Given the description of an element on the screen output the (x, y) to click on. 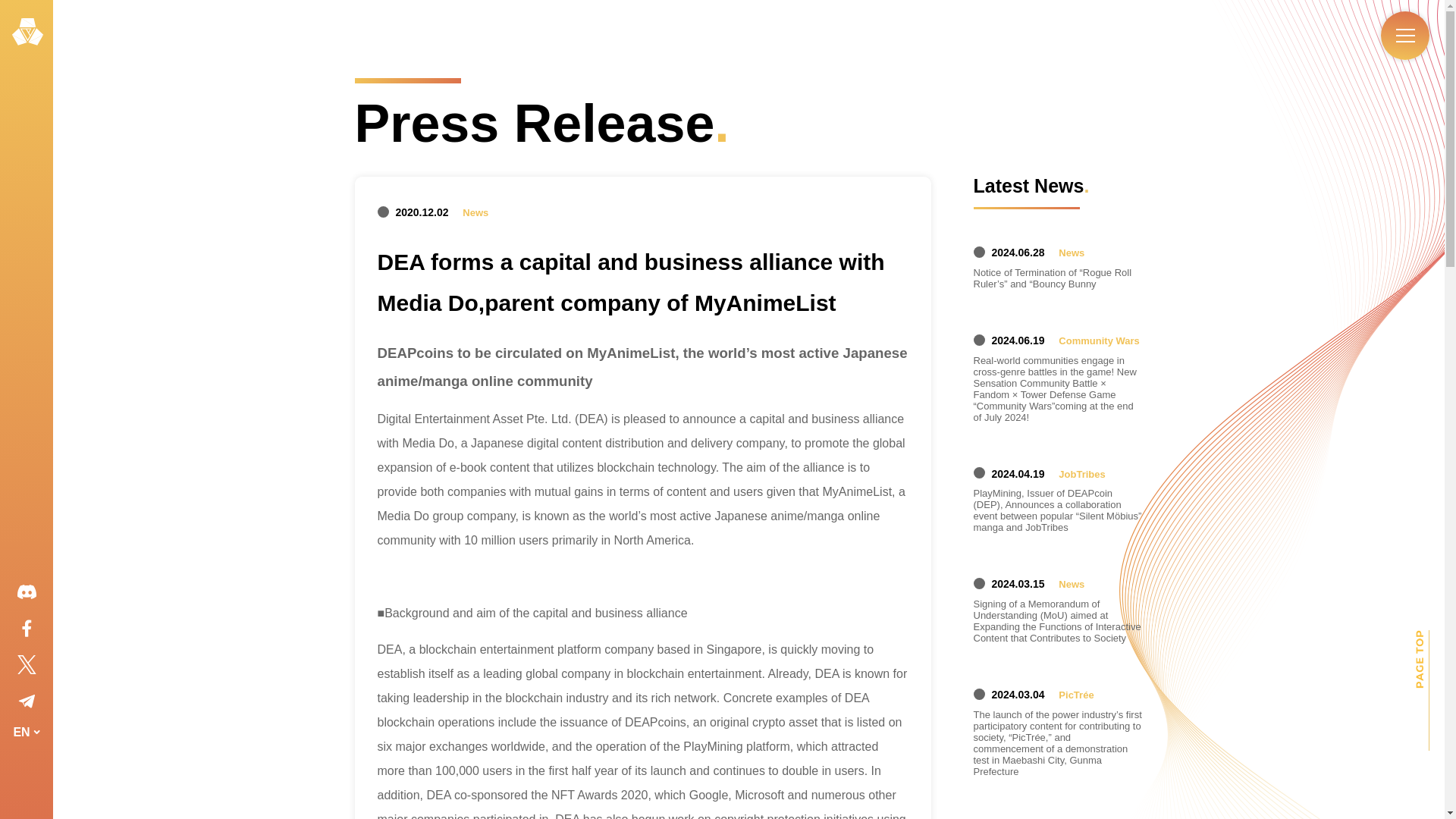
discord (26, 590)
Telegram (26, 700)
twitter (26, 663)
English (26, 775)
Digital Entertainment Asset Pte.Ltd (27, 31)
facebook (26, 627)
